Given the description of an element on the screen output the (x, y) to click on. 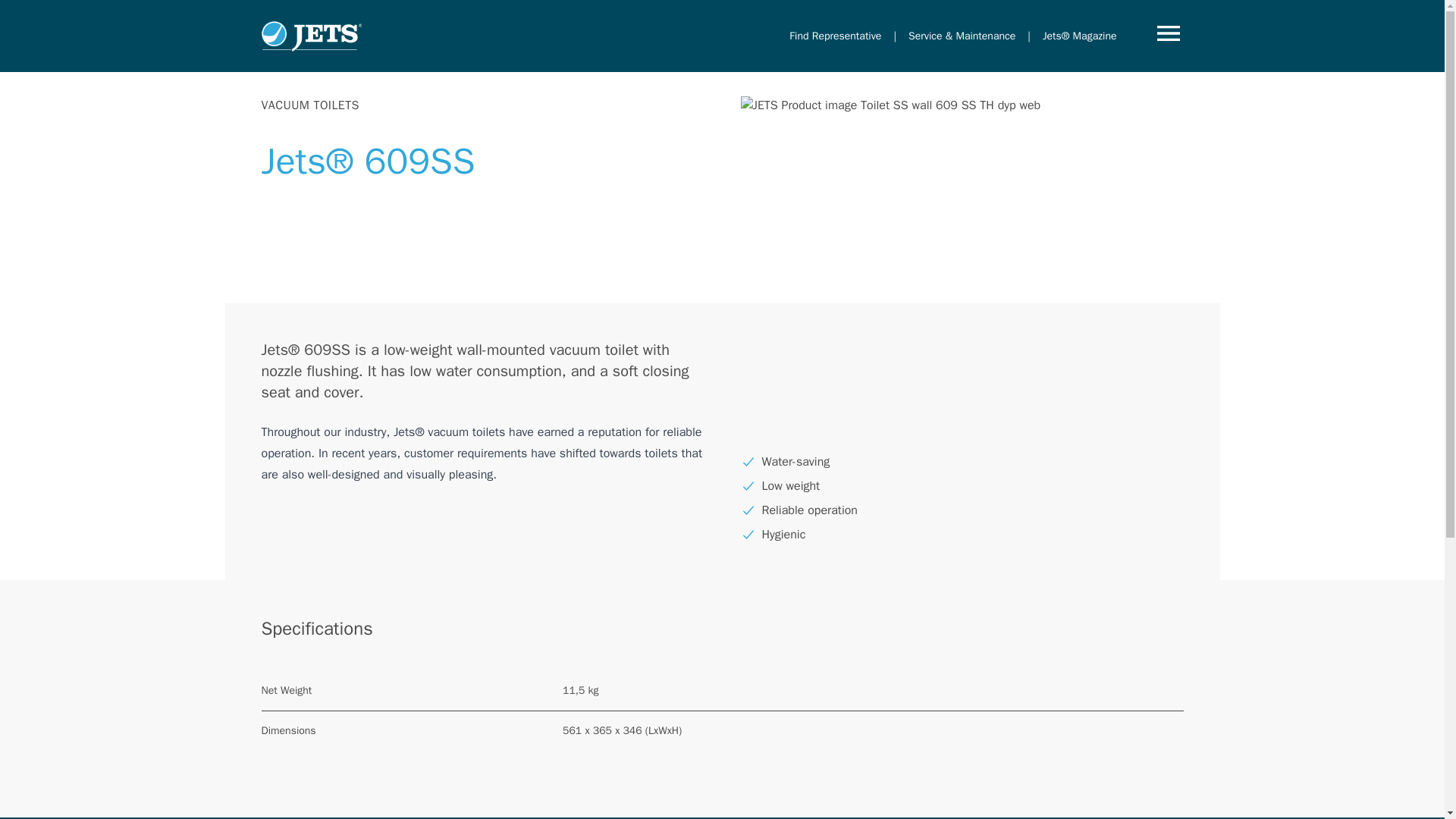
Find Representative (834, 36)
